Given the description of an element on the screen output the (x, y) to click on. 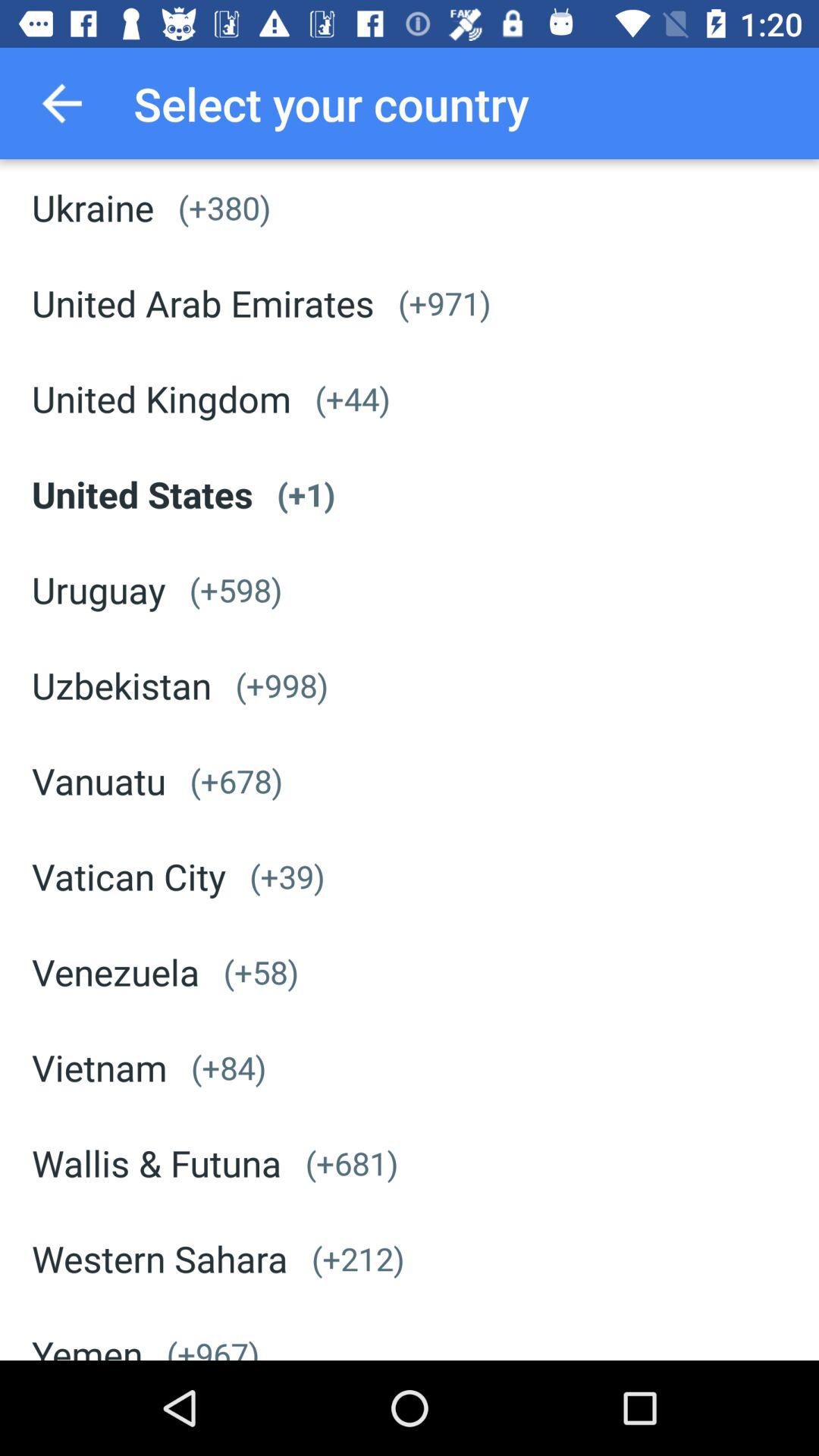
launch the icon next to the select your country (61, 103)
